Given the description of an element on the screen output the (x, y) to click on. 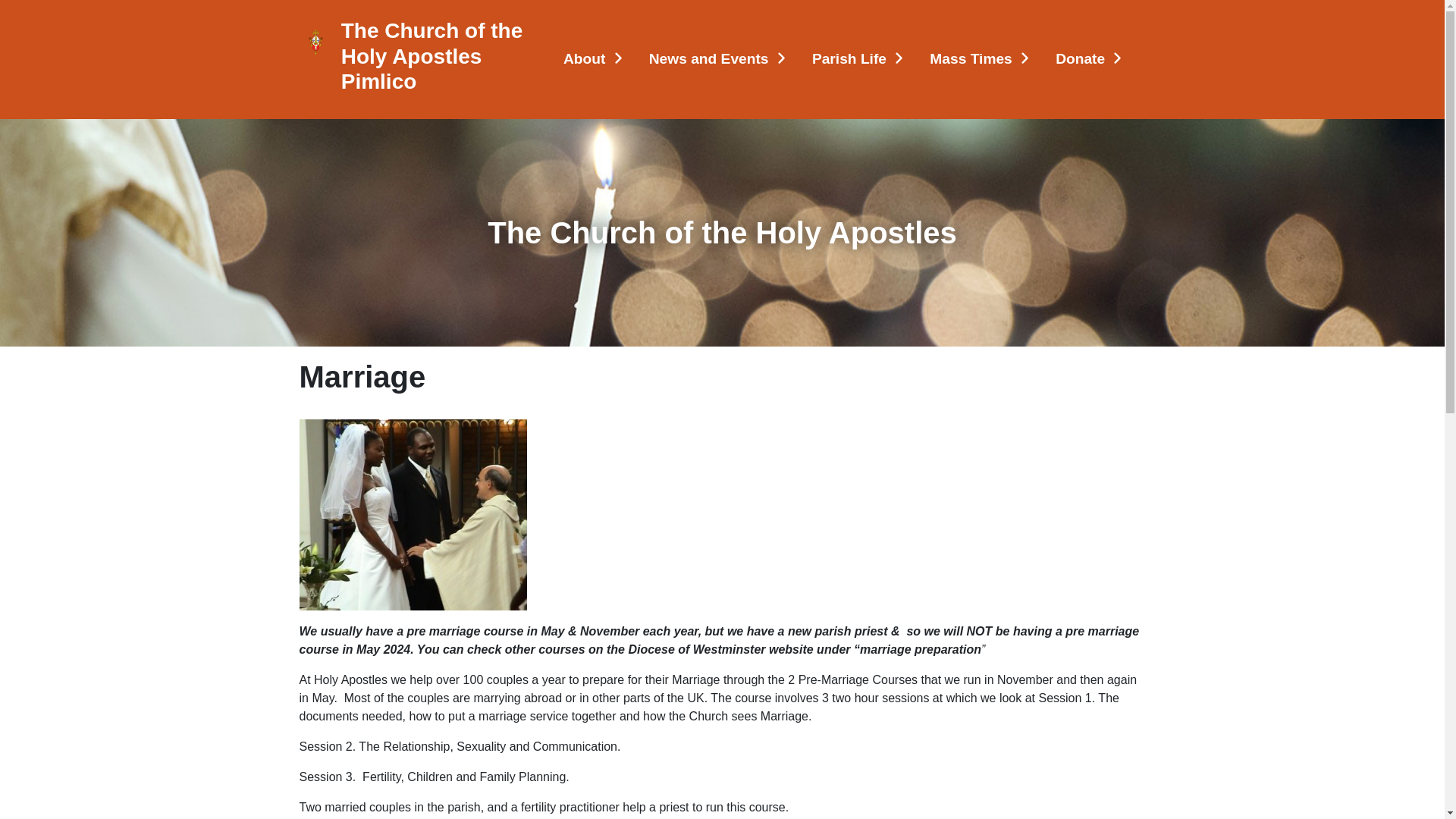
Donate (1089, 59)
Mass Times (980, 59)
Parish Life (858, 59)
About (594, 59)
News and Events (718, 59)
The Church of the Holy Apostles Pimlico (436, 56)
